Given the description of an element on the screen output the (x, y) to click on. 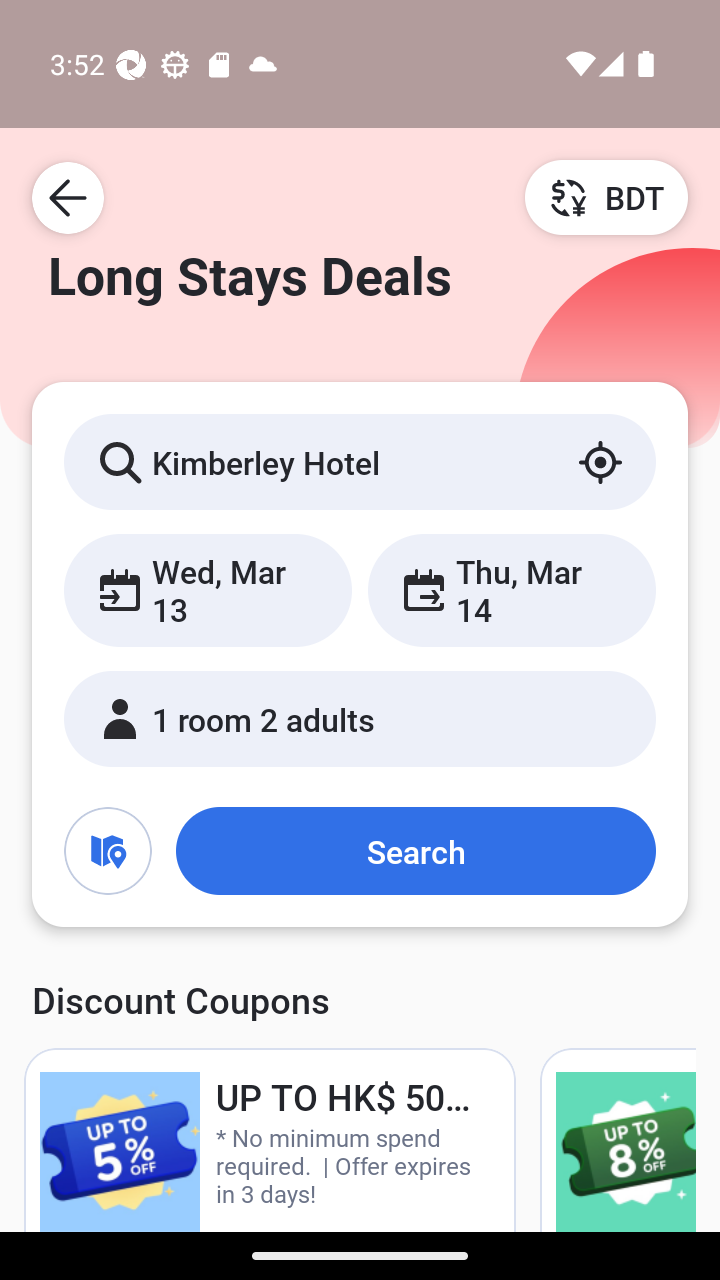
BDT (606, 197)
Kimberley Hotel (359, 461)
Wed, Mar 13 (208, 589)
Thu, Mar 14 (511, 589)
1 room 2 adults (359, 718)
Search (415, 850)
